Given the description of an element on the screen output the (x, y) to click on. 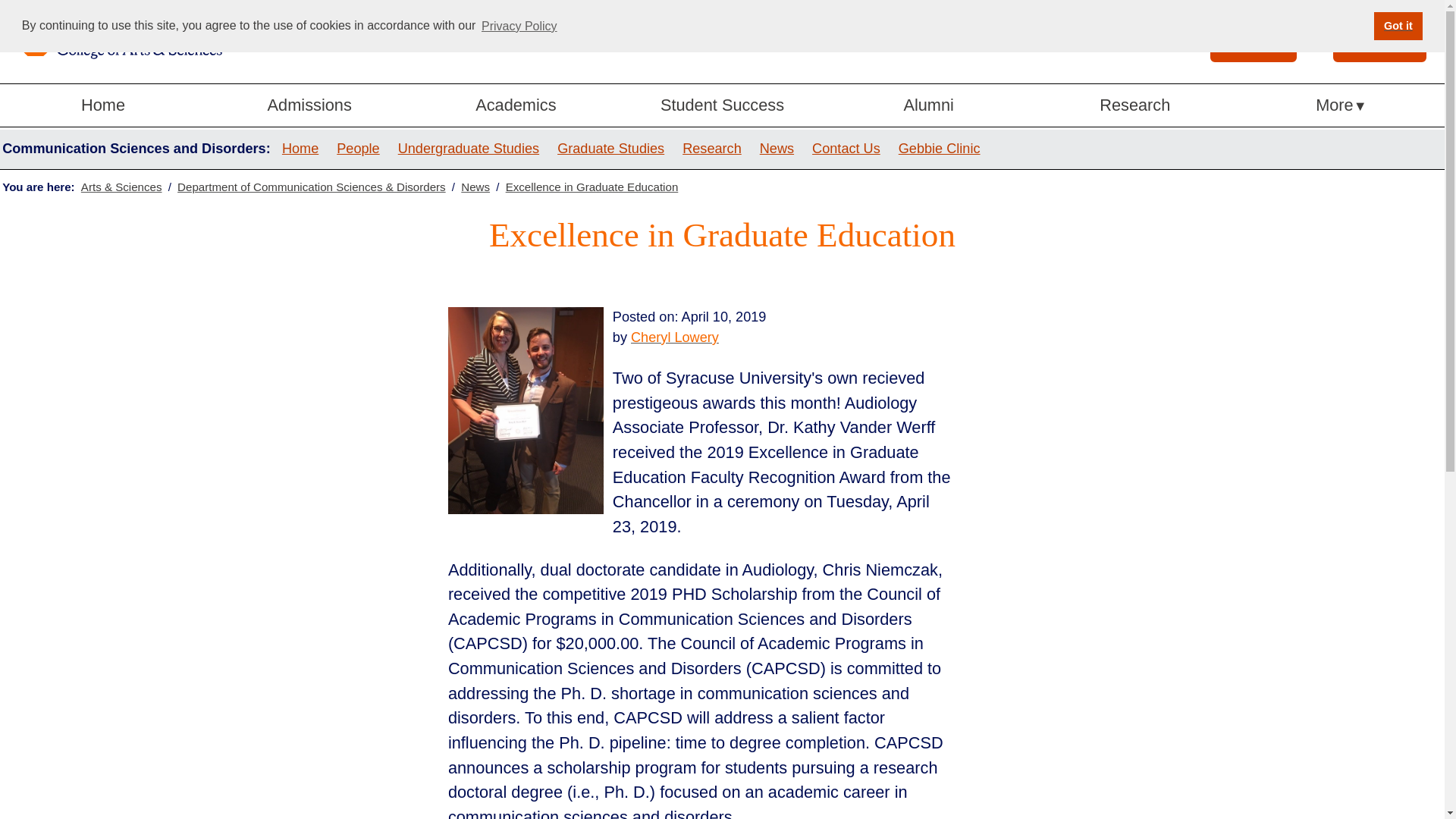
Academics (515, 105)
Search Search (1253, 41)
Give Online (1379, 41)
Student Success (721, 105)
Privacy Policy (519, 25)
Home (103, 105)
Admissions (309, 105)
Research (1135, 105)
Search (1230, 38)
Got it (1398, 26)
Alumni (928, 105)
